Given the description of an element on the screen output the (x, y) to click on. 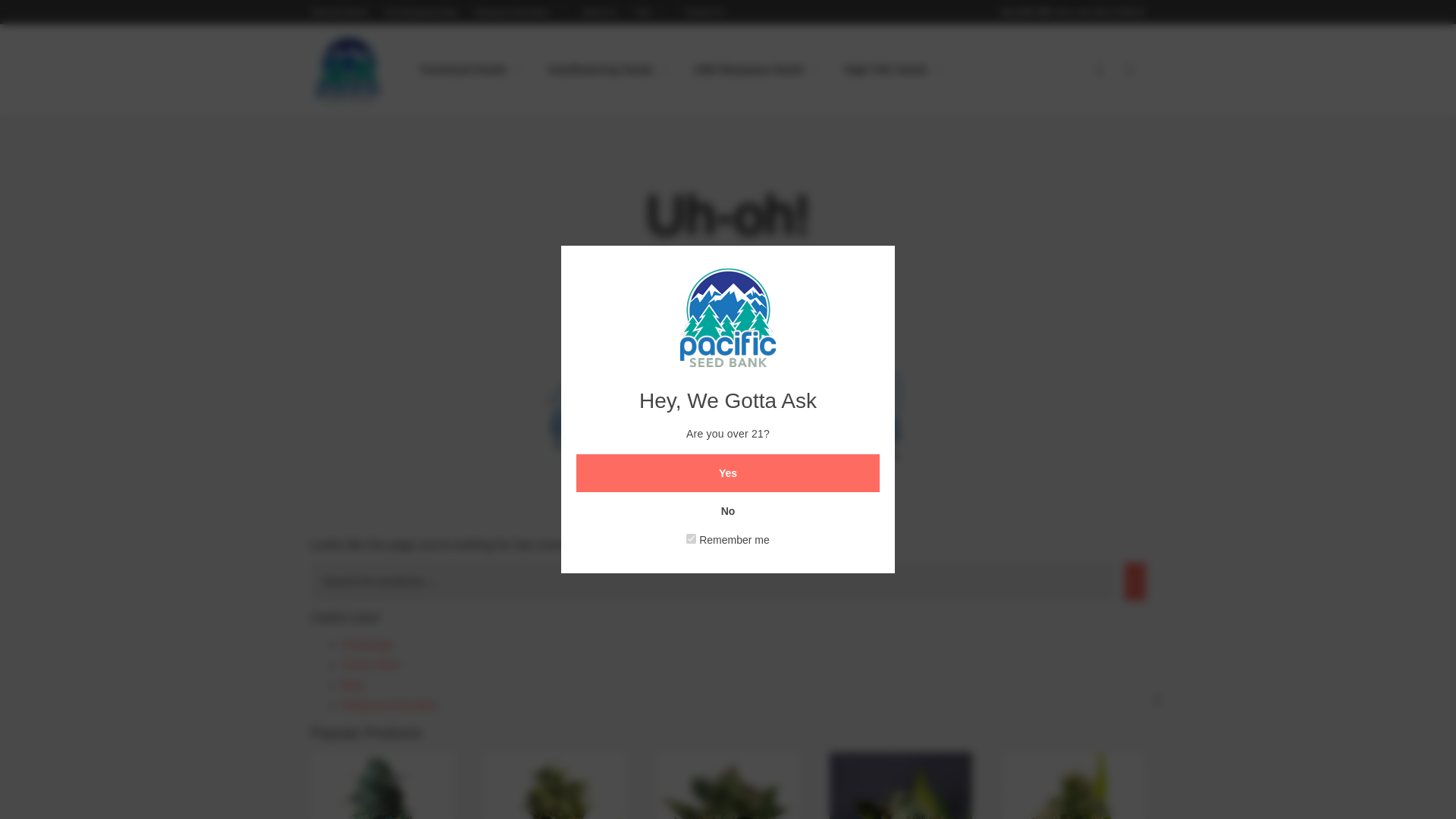
1 (690, 538)
About Us (598, 11)
Feminized Seeds (472, 69)
Pacific Seed Bank (349, 70)
9 Pound Hammer Autoflowering Seeds (555, 785)
White Widow Autoflowering Seeds (381, 785)
Marijuana Education (520, 11)
Shop All Seeds (339, 11)
No (727, 510)
FAQ (649, 11)
Our Marijuana Blog (421, 11)
Blue Dream Autoflowering Feminized Seeds (900, 785)
Jack Herer Autoflowering Feminized Seeds (727, 785)
Yes (727, 473)
Contact Us (702, 11)
